Given the description of an element on the screen output the (x, y) to click on. 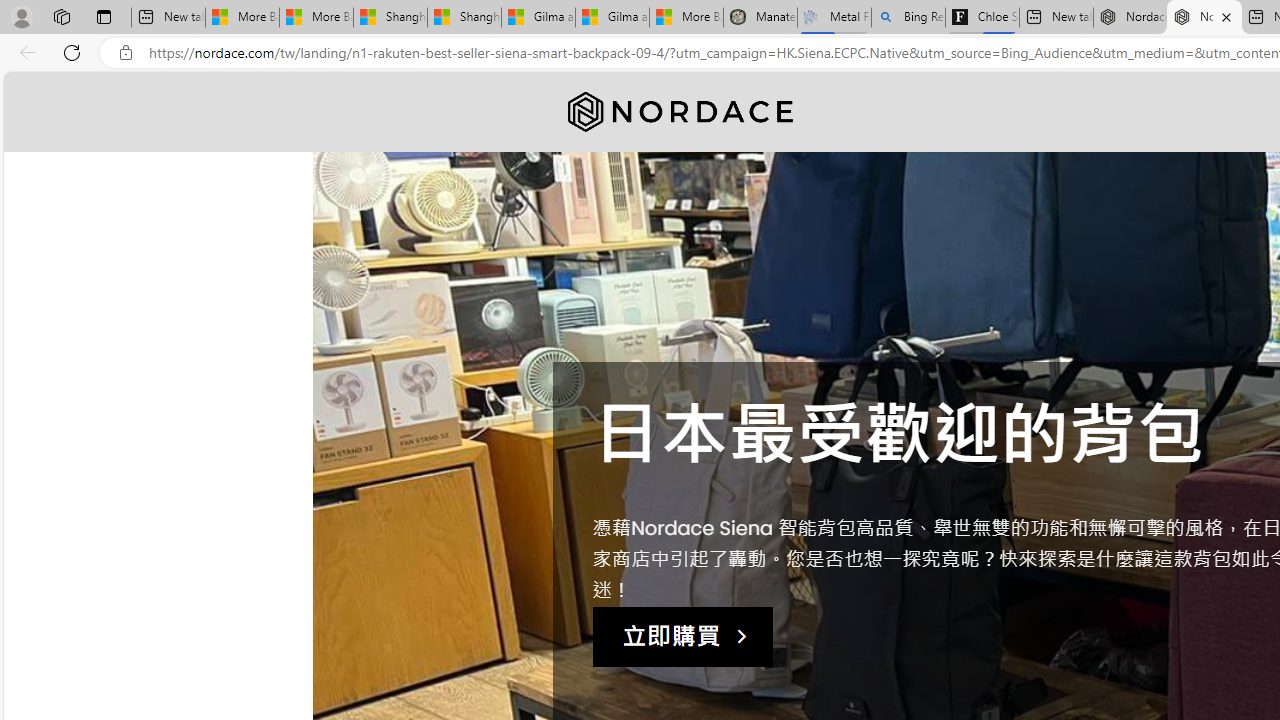
Shanghai, China weather forecast | Microsoft Weather (463, 17)
Bing Real Estate - Home sales and rental listings (907, 17)
Gilma and Hector both pose tropical trouble for Hawaii (612, 17)
